Given the description of an element on the screen output the (x, y) to click on. 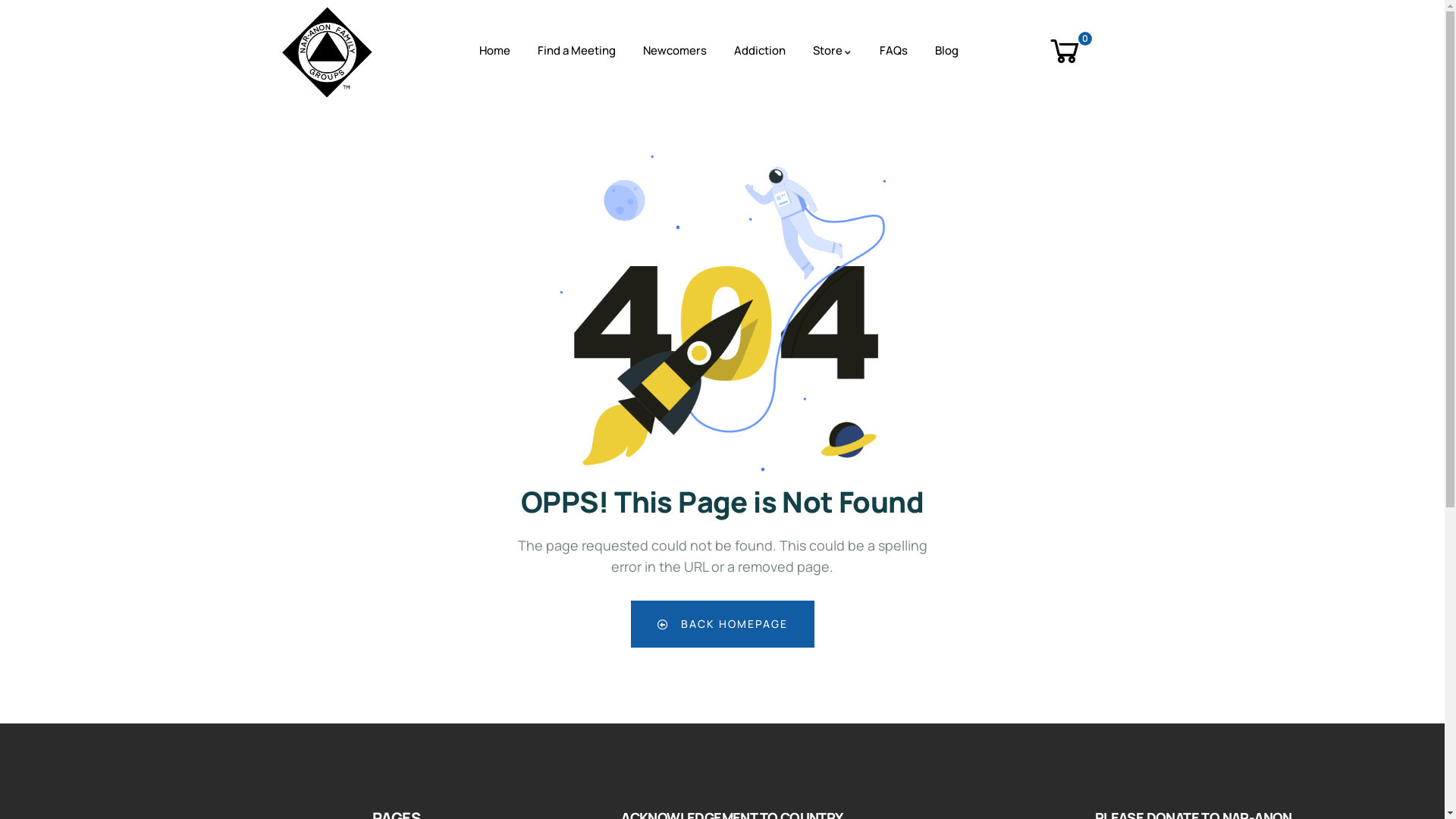
Addiction Element type: text (759, 51)
FAQs Element type: text (893, 51)
0 Element type: text (1066, 50)
Home Element type: hover (327, 50)
BACK HOMEPAGE Element type: text (722, 623)
Blog Element type: text (946, 51)
Store Element type: text (832, 51)
Newcomers Element type: text (674, 51)
Home Element type: text (494, 51)
Find a Meeting Element type: text (576, 51)
